Given the description of an element on the screen output the (x, y) to click on. 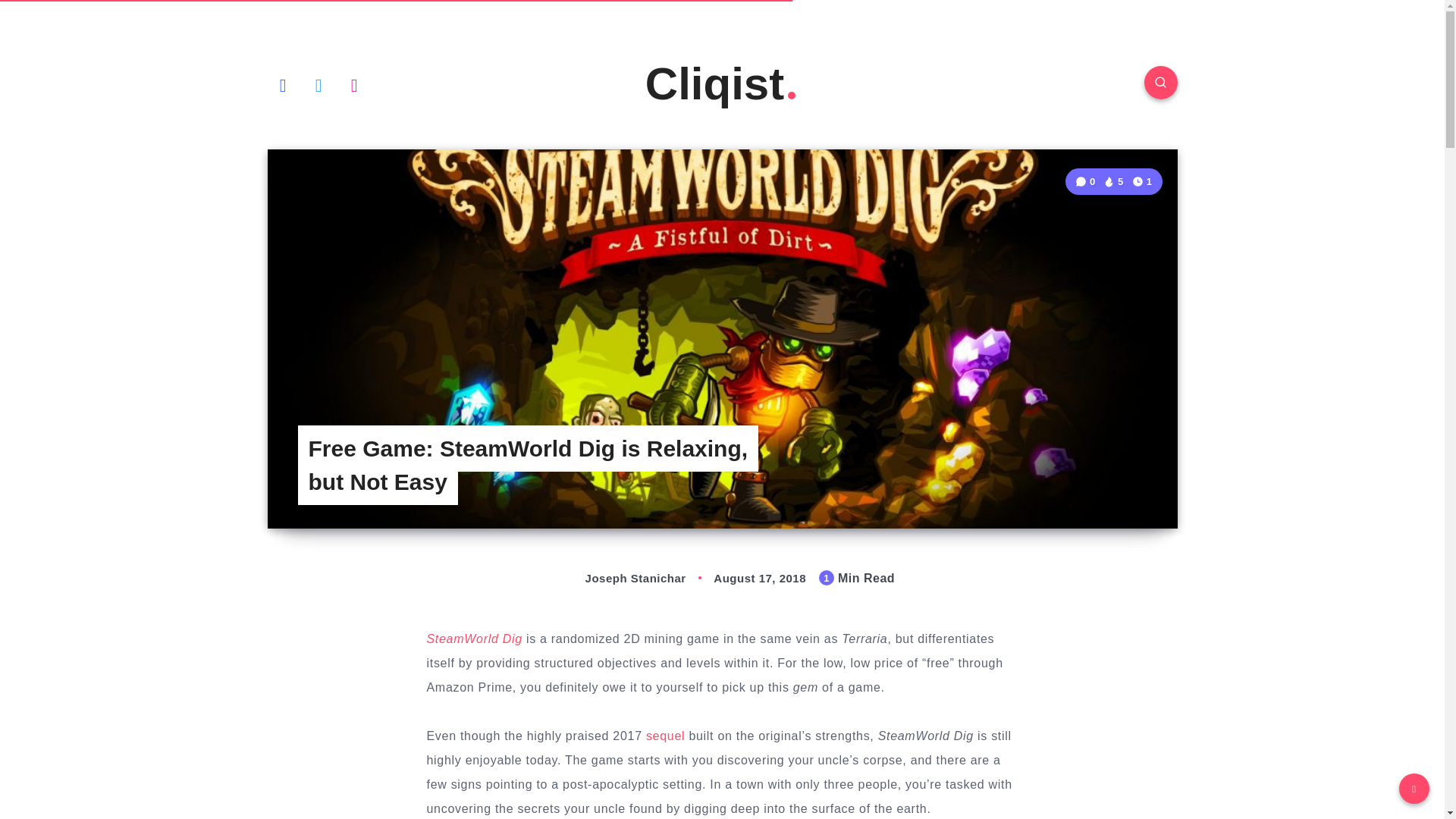
SteamWorld Dig (473, 638)
5 Views (1113, 181)
Cliqist (722, 83)
0 Comments (1087, 181)
Author: Joseph Stanichar (619, 577)
sequel (665, 735)
0 (1087, 181)
1 Min Read (1142, 181)
Joseph Stanichar (619, 577)
